Given the description of an element on the screen output the (x, y) to click on. 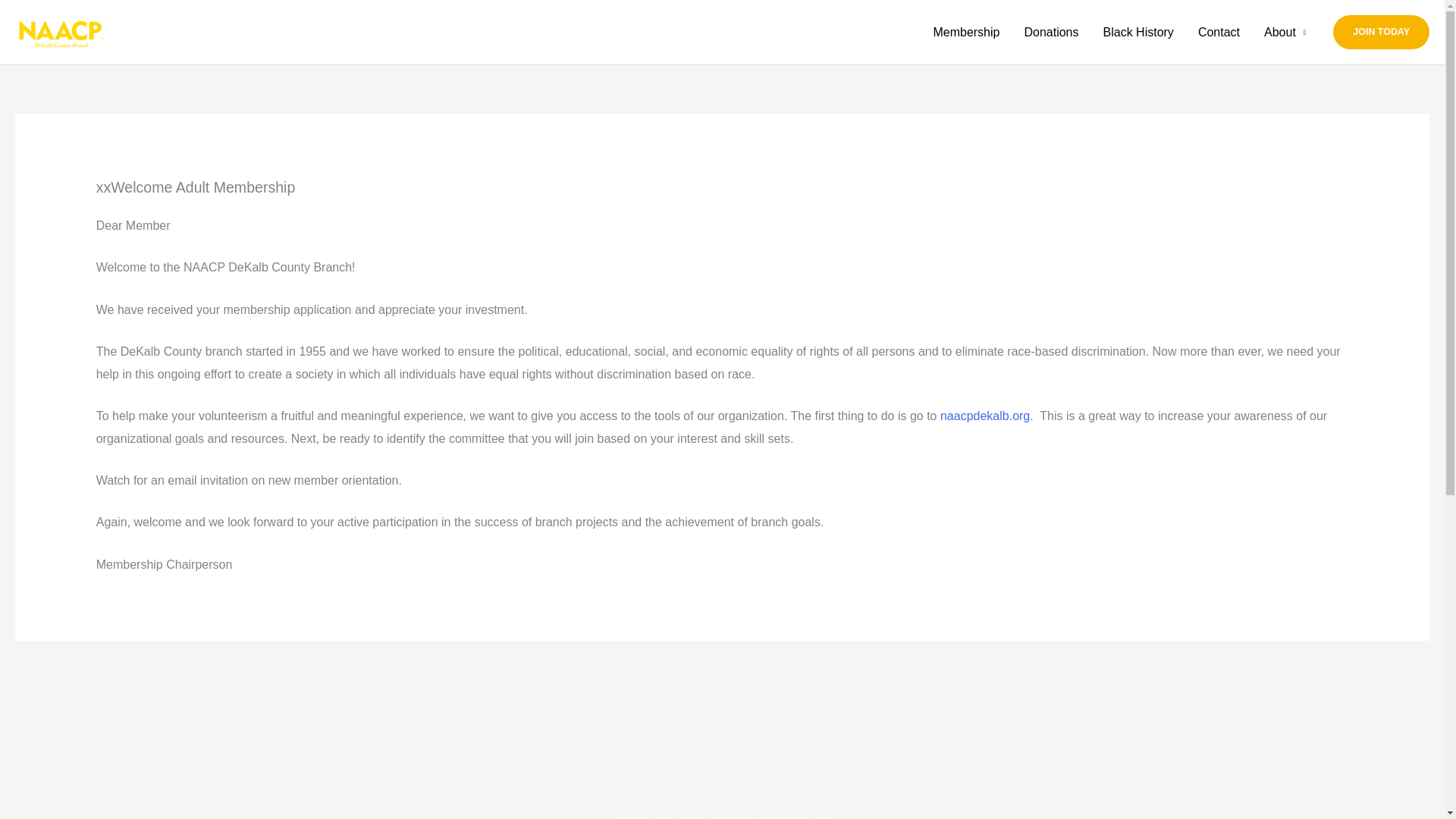
About (1284, 31)
Donations (1050, 31)
Black History (1138, 31)
Contact (1219, 31)
JOIN TODAY (1381, 31)
Membership (965, 31)
